Given the description of an element on the screen output the (x, y) to click on. 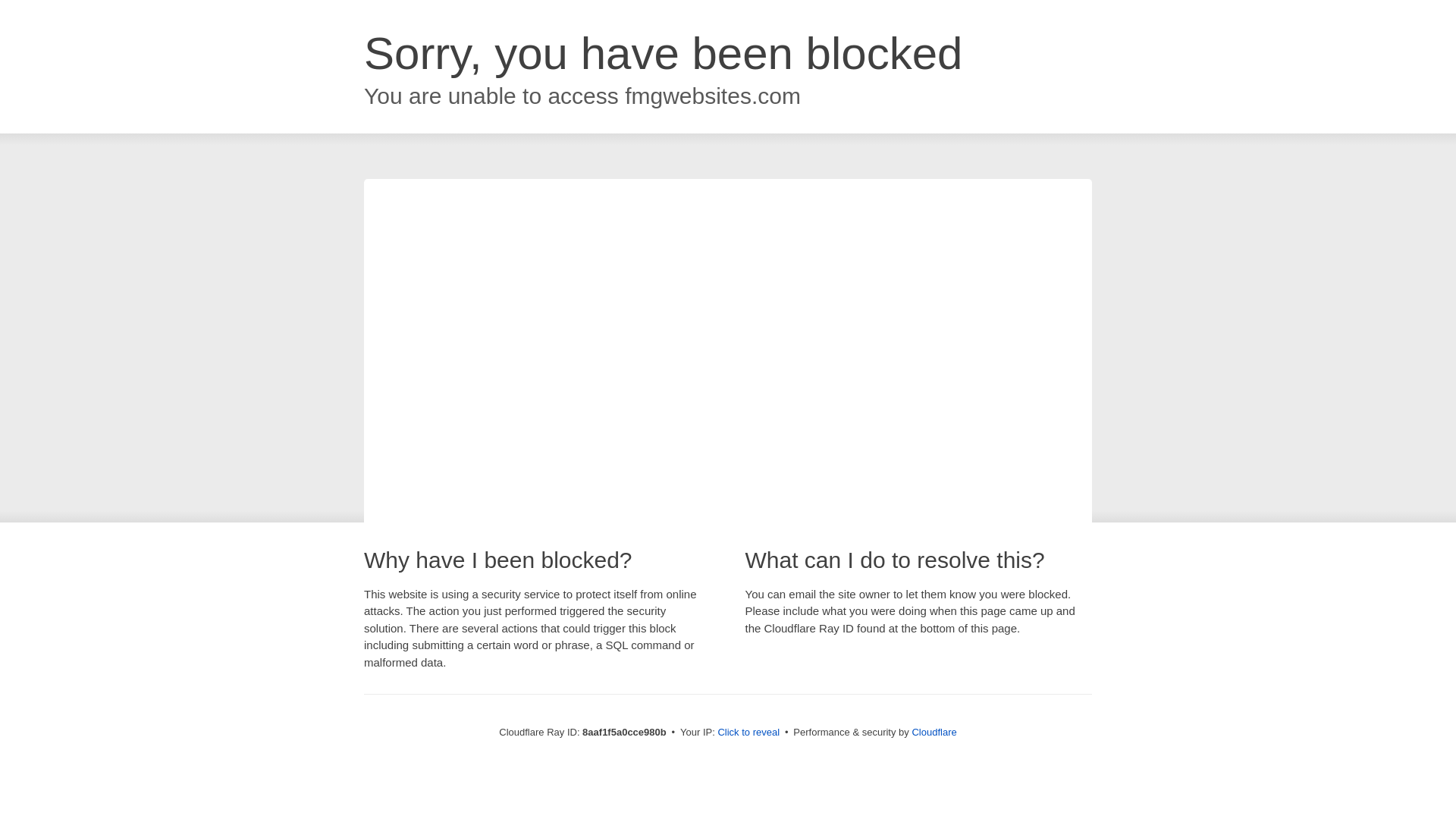
Click to reveal (747, 732)
Cloudflare (933, 731)
